Given the description of an element on the screen output the (x, y) to click on. 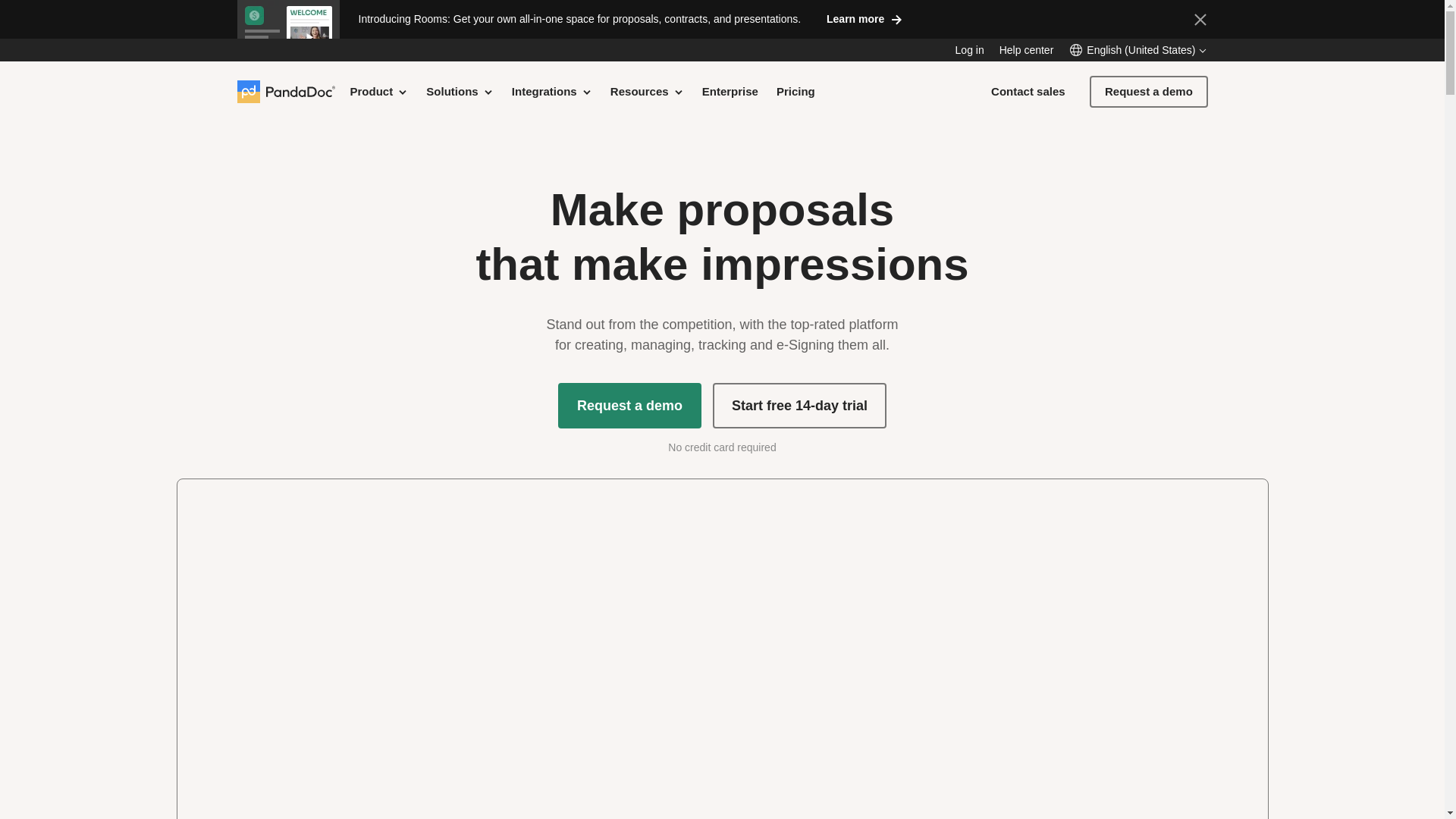
Learn more (864, 18)
Help center (1026, 50)
Solutions (459, 91)
Log in (969, 50)
Product (379, 91)
